Given the description of an element on the screen output the (x, y) to click on. 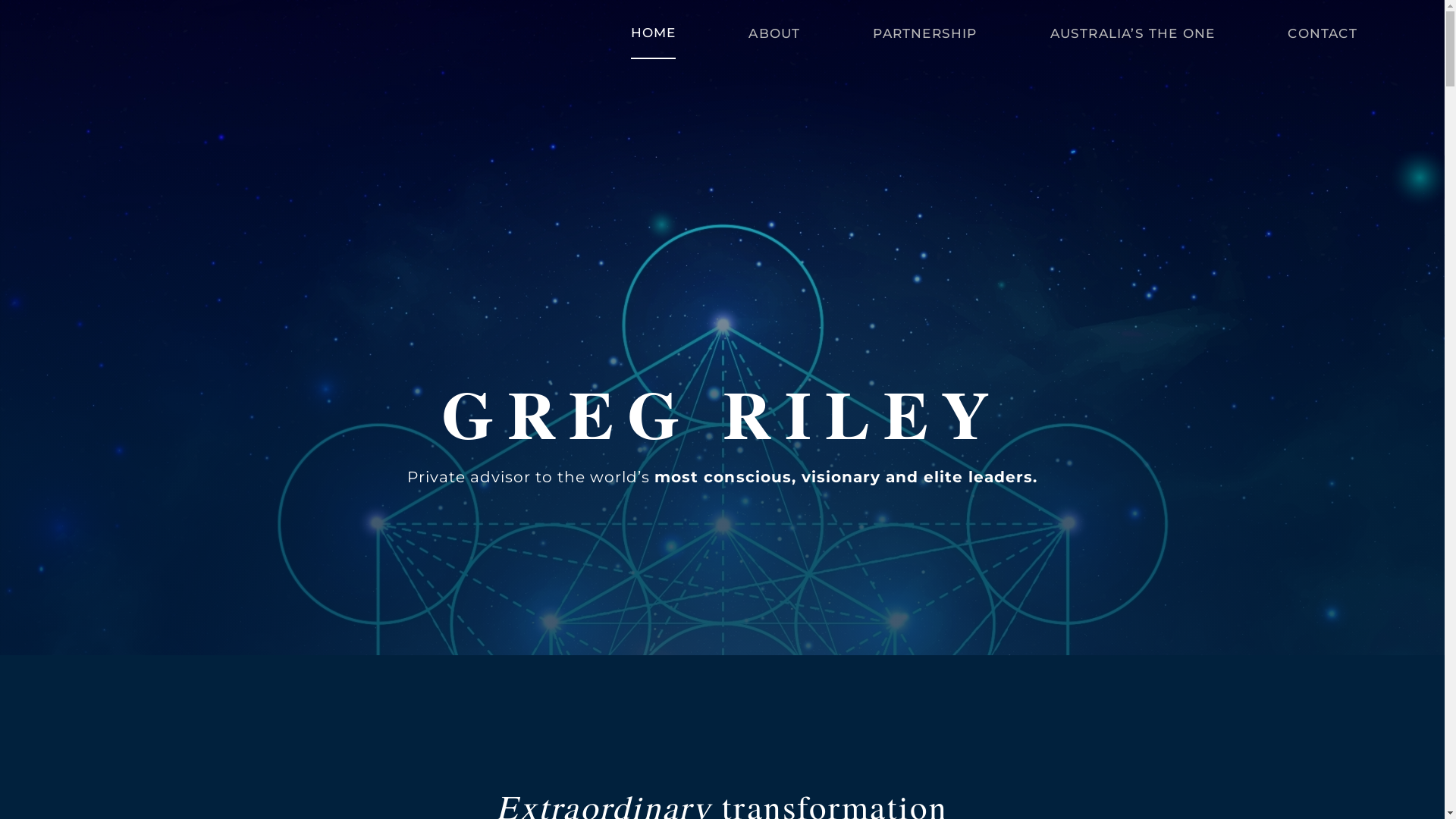
HOME Element type: text (653, 33)
PARTNERSHIP Element type: text (924, 33)
CONTACT Element type: text (1321, 33)
ABOUT Element type: text (774, 33)
